Given the description of an element on the screen output the (x, y) to click on. 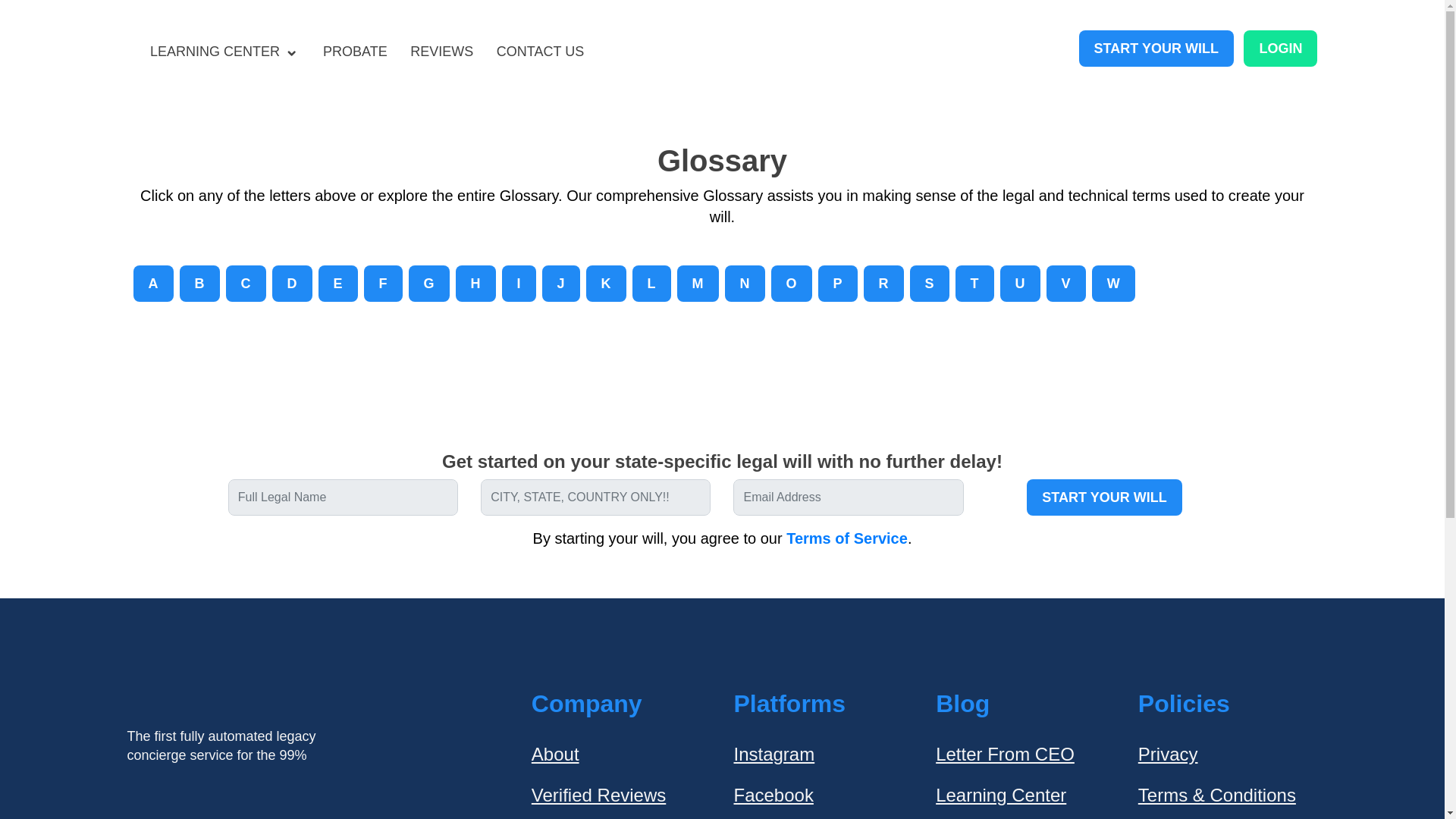
B (199, 283)
T (974, 283)
N (745, 283)
F (383, 283)
REVIEWS (441, 51)
E (338, 283)
A (153, 283)
S (929, 283)
START YOUR WILL (1155, 48)
O (791, 283)
